Given the description of an element on the screen output the (x, y) to click on. 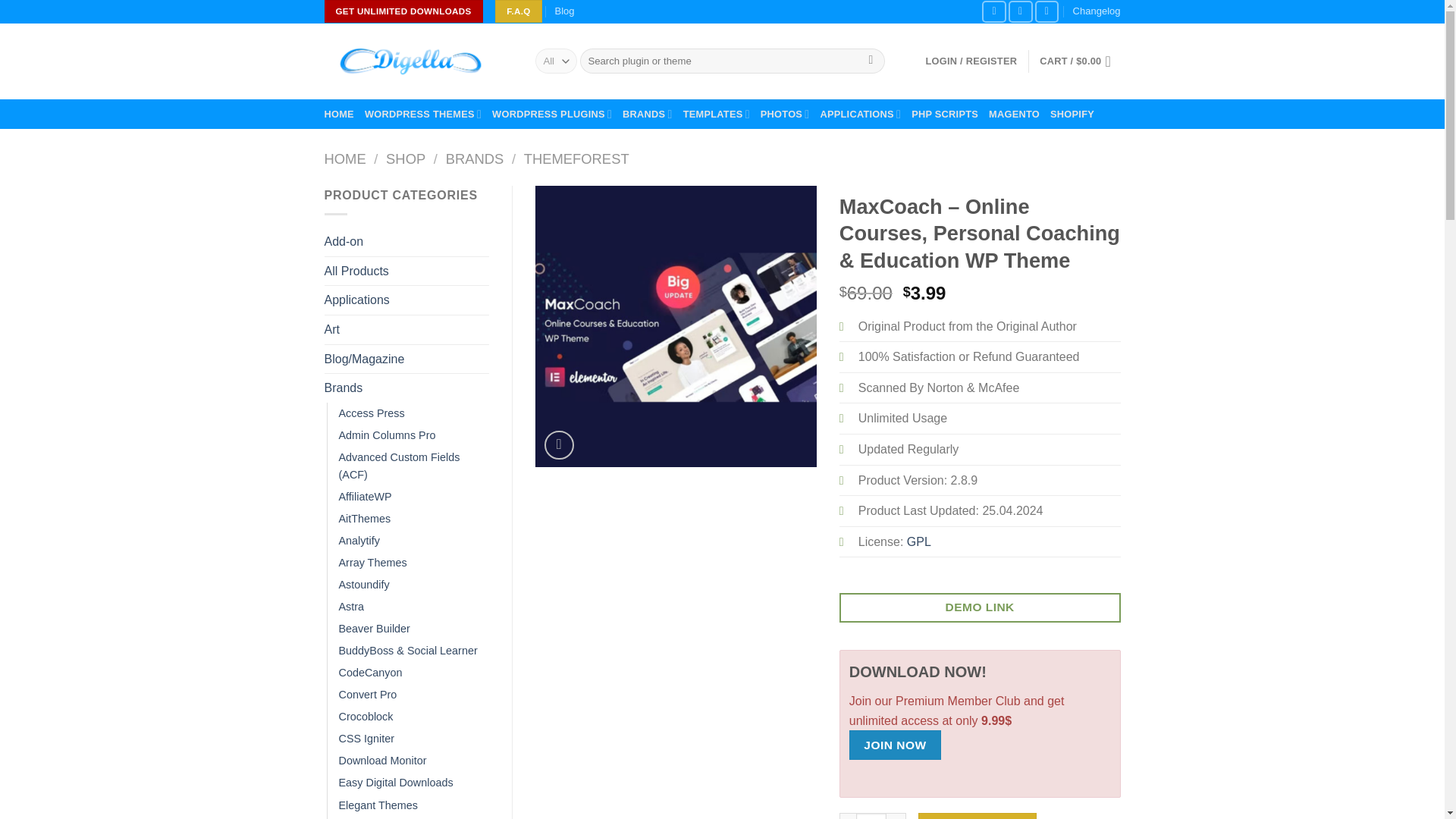
Send us an email (1047, 11)
Changelog (1097, 11)
- (848, 816)
1 (871, 816)
Digella - Unlimited Digital Products (418, 60)
Follow on Instagram (1020, 11)
HOME (338, 113)
Qty (871, 816)
Cart (1079, 61)
F.A.Q (518, 11)
GET UNLIMITED DOWNLOADS (403, 11)
Follow on Facebook (993, 11)
WORDPRESS PLUGINS (551, 113)
Zoom (558, 445)
Blog (564, 11)
